Given the description of an element on the screen output the (x, y) to click on. 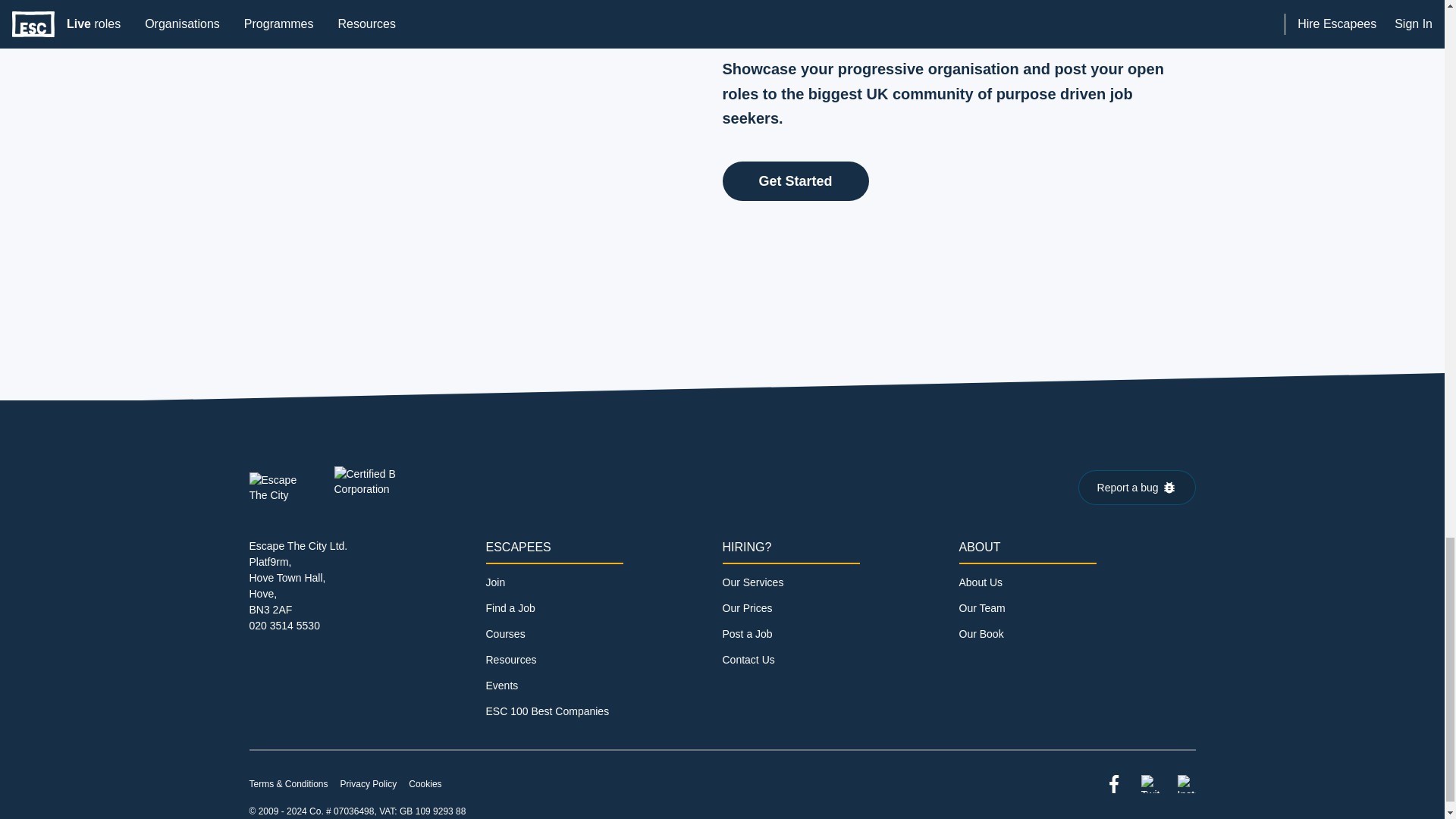
ESC 100 Best Companies (546, 711)
Courses (504, 633)
Find a Job (509, 607)
Our Services (752, 582)
Get Started (794, 179)
Report a bug (1136, 487)
Events (501, 685)
Resources (509, 659)
020 3514 5530 (283, 625)
